Given the description of an element on the screen output the (x, y) to click on. 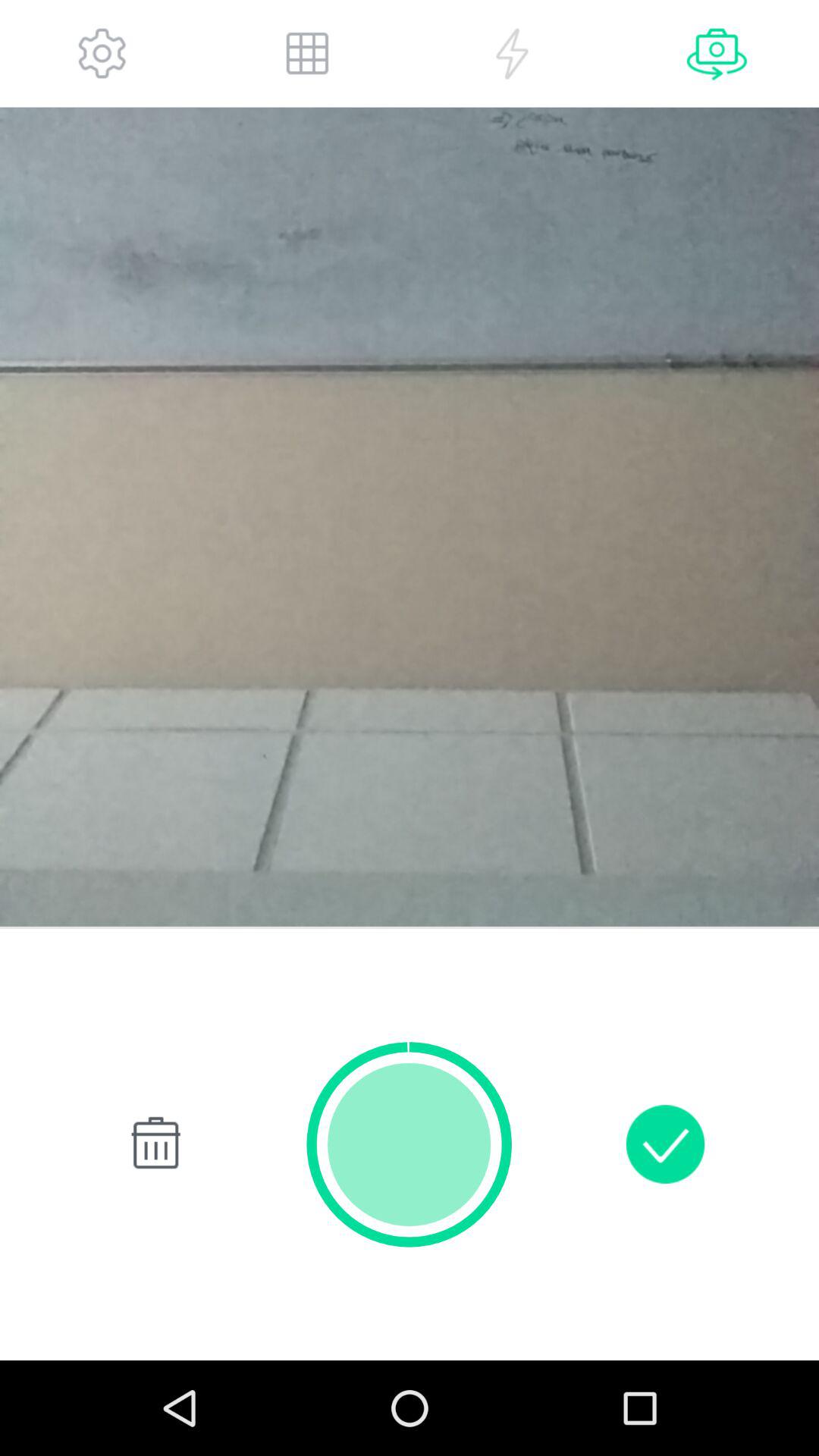
select the symbol (152, 1144)
